Given the description of an element on the screen output the (x, y) to click on. 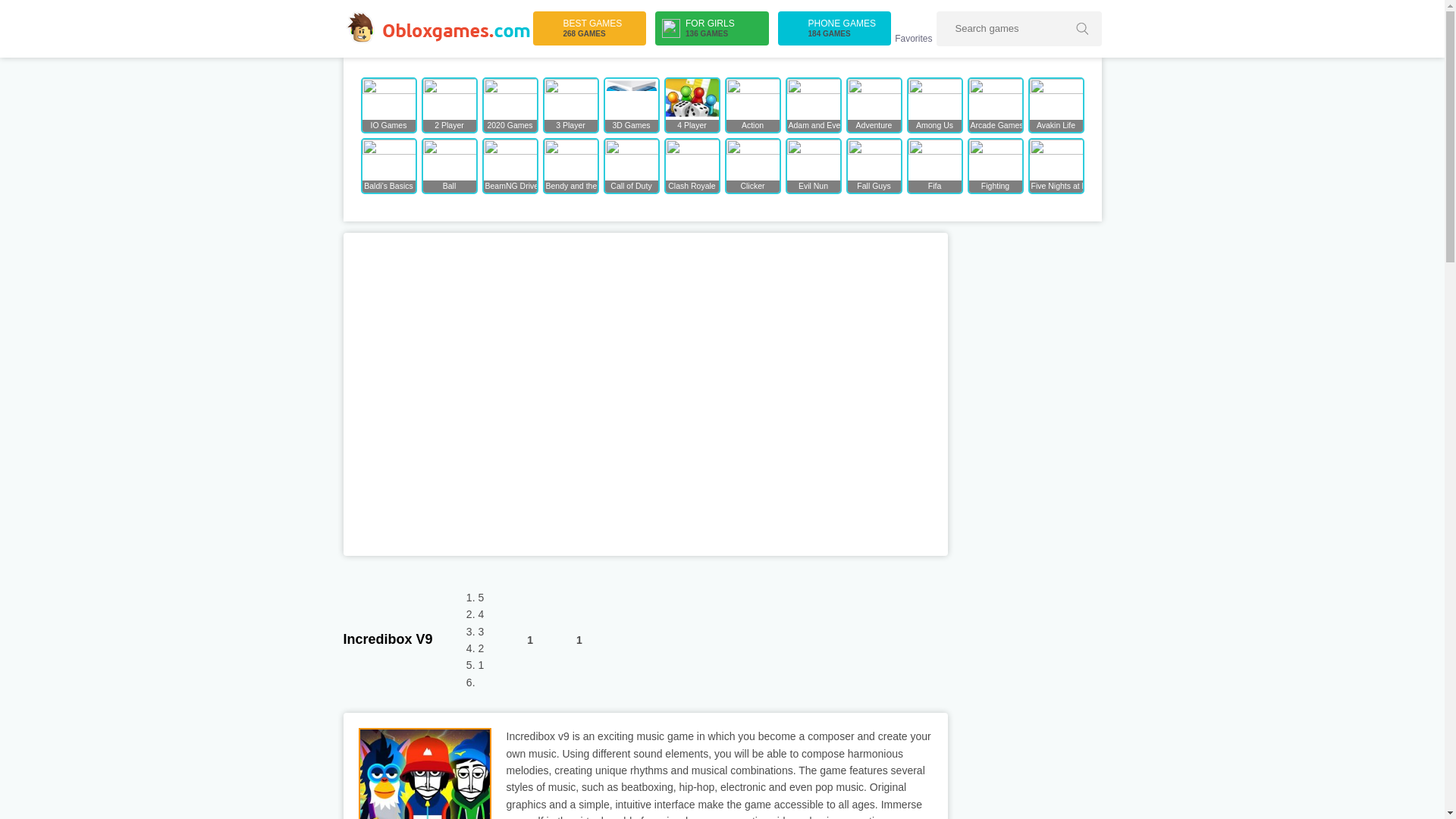
BeamNG Drive (509, 166)
2020 Games (509, 104)
3D Games (631, 104)
Action (752, 104)
3 Player (570, 104)
Clash Royale (589, 28)
Fall Guys (691, 166)
Adam and Eve (873, 166)
